Given the description of an element on the screen output the (x, y) to click on. 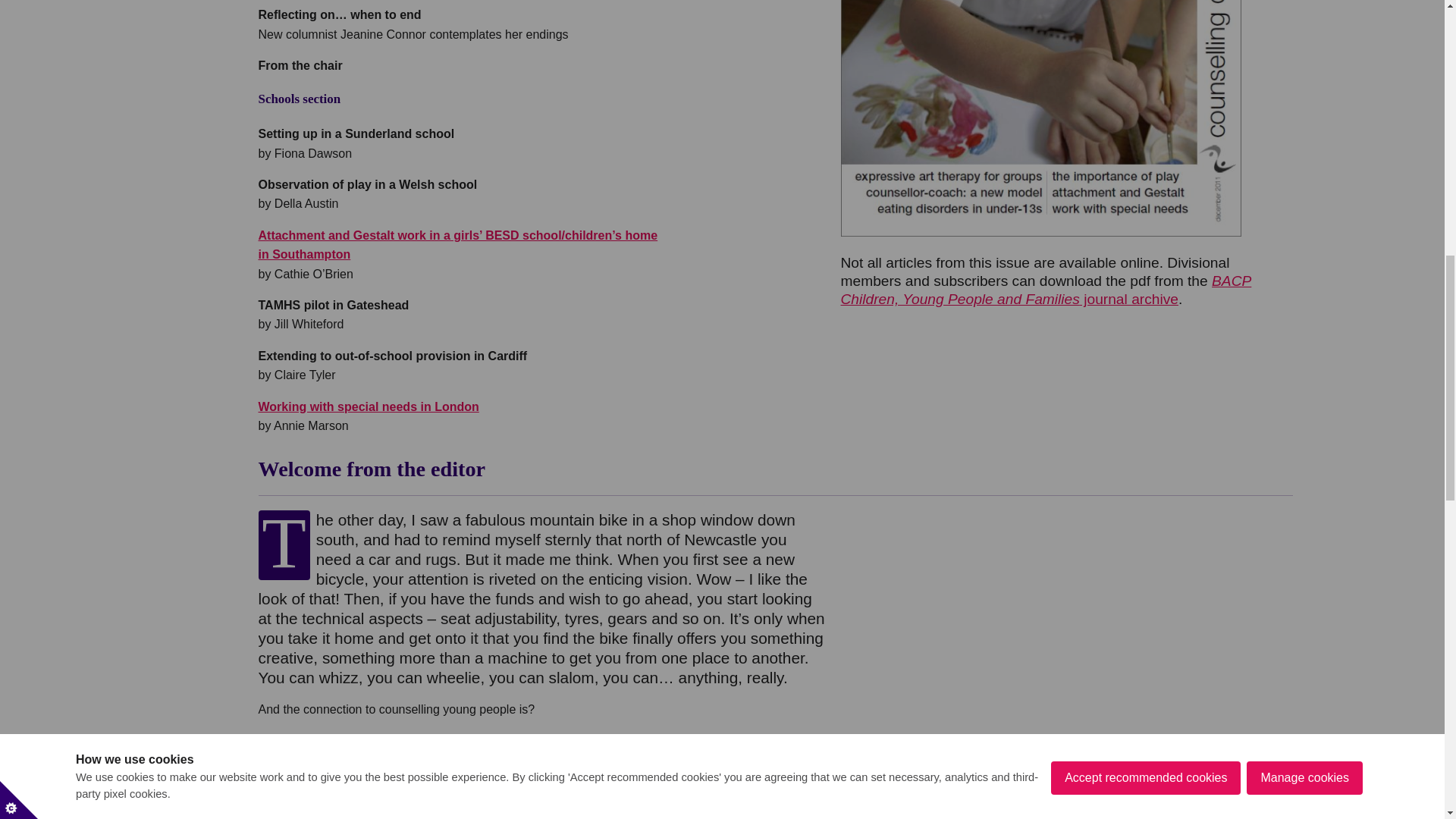
Disorganised and in care (457, 245)
Archive (1045, 289)
Accept recommended cookies (1145, 24)
Special needs (368, 406)
Manage cookies (1304, 17)
